Given the description of an element on the screen output the (x, y) to click on. 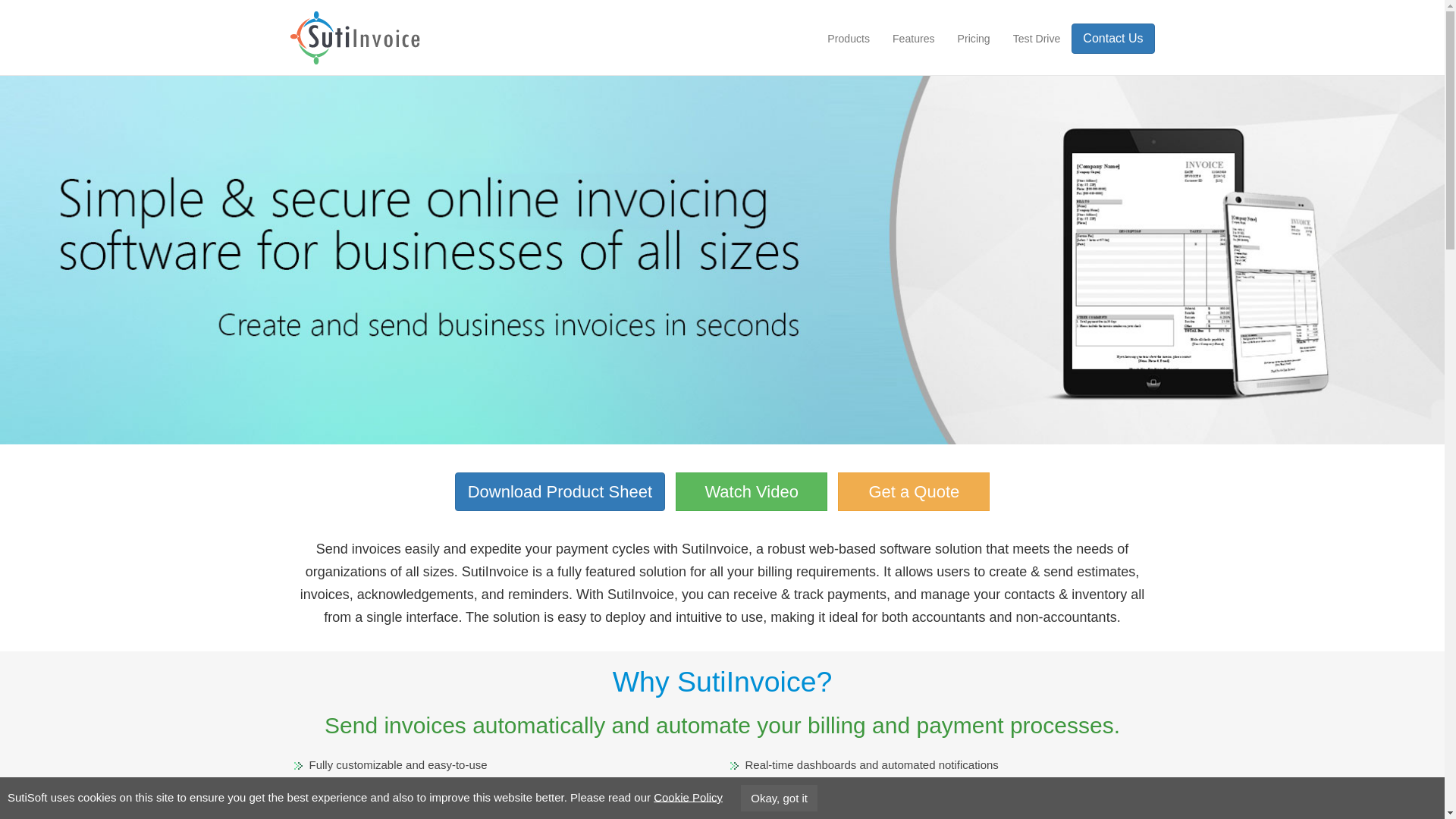
Close Banner (770, 796)
Watch Video (751, 491)
Get a Quote (914, 491)
Contact Us (1112, 38)
Pricing (973, 38)
Products (847, 38)
Features (913, 38)
Download Product Sheet (559, 491)
Test Drive (1036, 38)
